Given the description of an element on the screen output the (x, y) to click on. 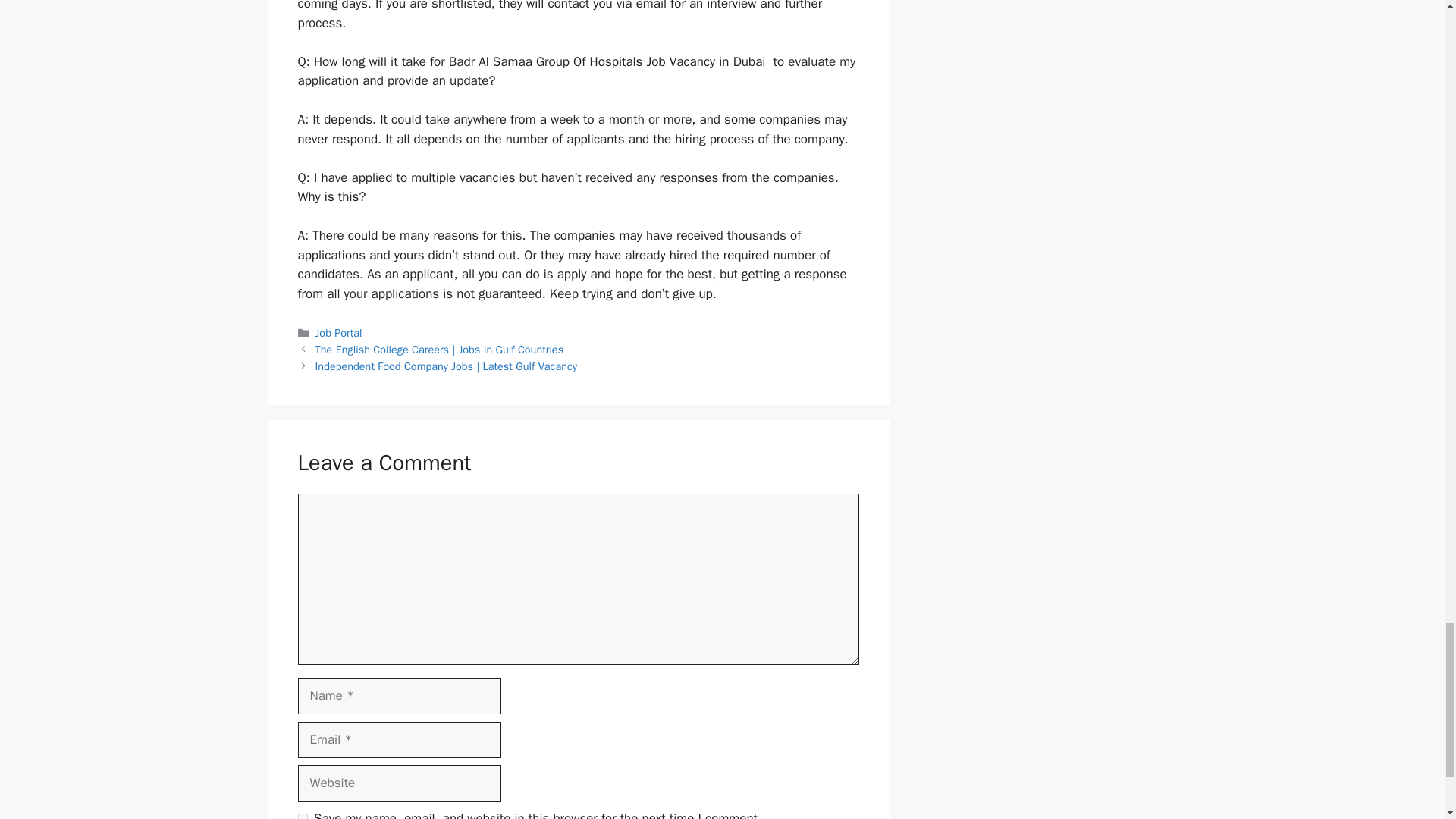
Job Portal (338, 332)
yes (302, 816)
